Given the description of an element on the screen output the (x, y) to click on. 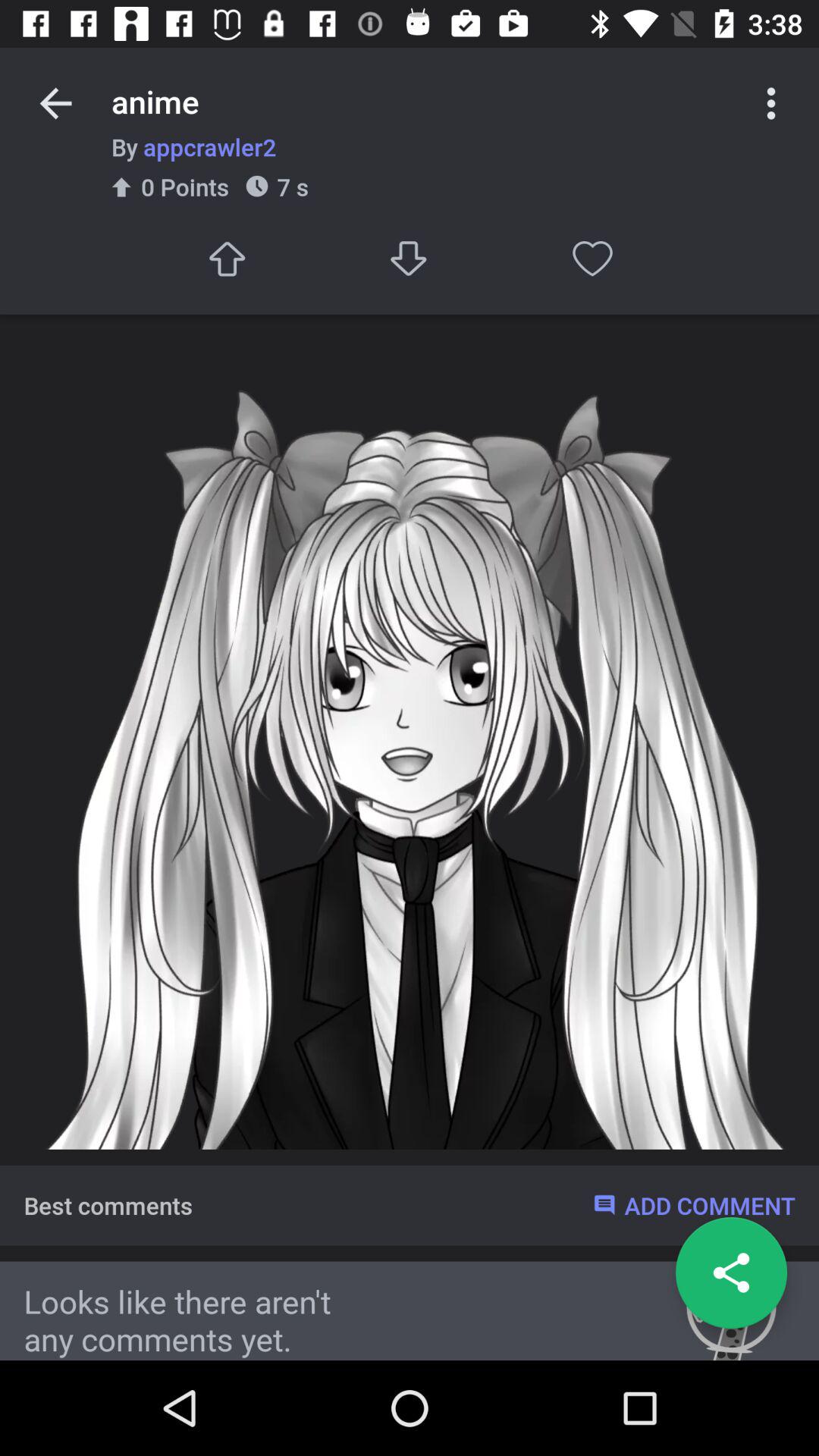
go back (731, 1272)
